Given the description of an element on the screen output the (x, y) to click on. 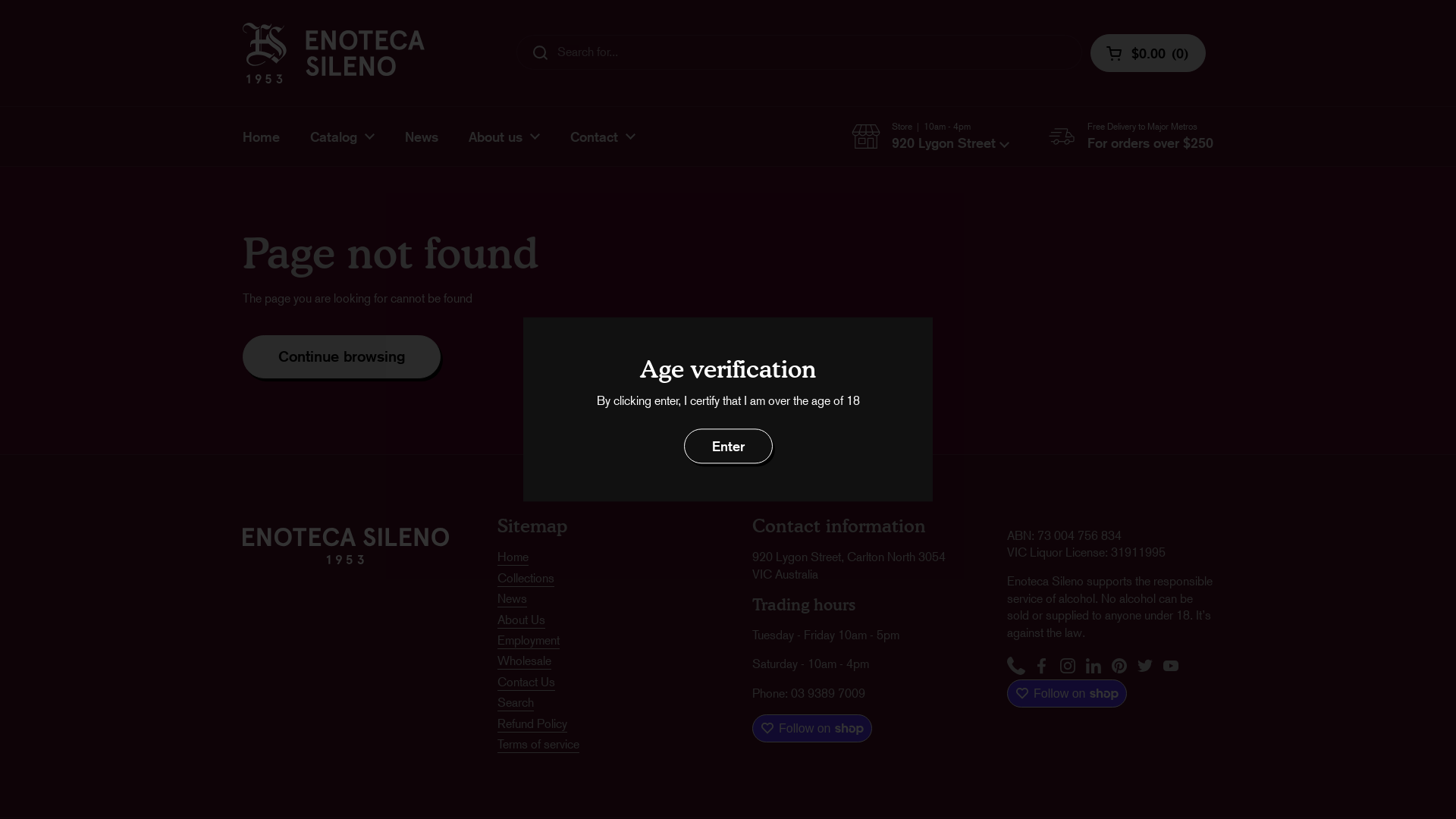
Home Element type: text (512, 557)
Twitter Element type: text (1144, 666)
Phone Element type: text (1016, 666)
Refund Policy Element type: text (532, 723)
News Element type: text (421, 136)
Open cart
$0.00
0 Element type: text (1147, 53)
Terms of service Element type: text (538, 745)
Skip to content Element type: text (0, 0)
Enoteca Sileno Element type: hover (333, 52)
About Us Element type: text (521, 620)
Contact Element type: text (602, 136)
Wholesale Element type: text (524, 661)
Facebook Element type: text (1041, 666)
Pinterest Element type: text (1119, 666)
YouTube Element type: text (1170, 666)
News Element type: text (512, 599)
LinkedIn Element type: text (1093, 666)
Home Element type: text (260, 136)
Search Element type: text (515, 703)
Enter Element type: text (728, 446)
Instagram Element type: text (1067, 666)
Contact Us Element type: text (526, 682)
Collections Element type: text (525, 578)
Catalog Element type: text (341, 136)
Employment Element type: text (528, 641)
Continue browsing Element type: text (341, 356)
About us Element type: text (504, 136)
